Given the description of an element on the screen output the (x, y) to click on. 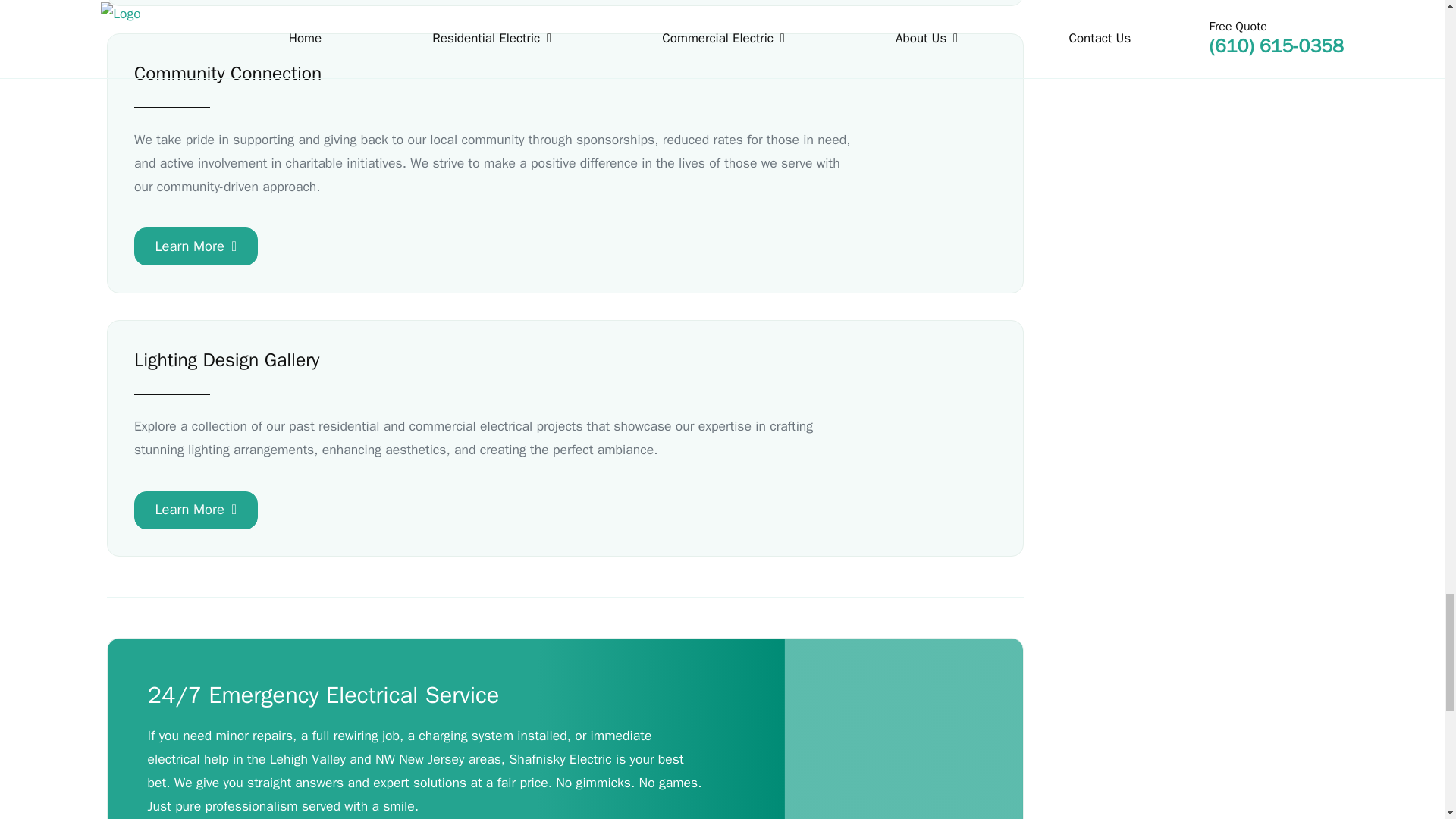
Shafnisky Electric, Inc. (898, 776)
